Given the description of an element on the screen output the (x, y) to click on. 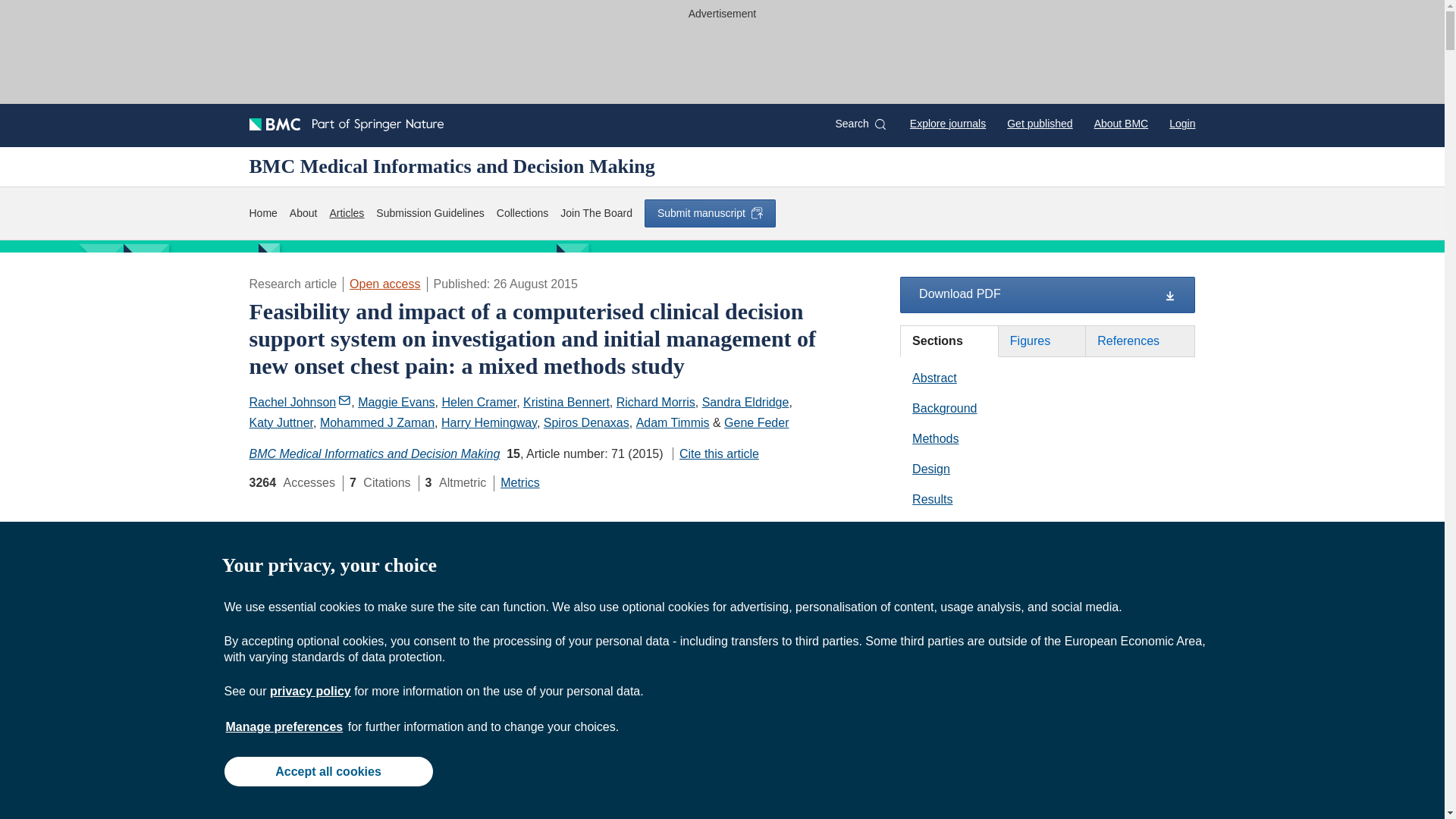
Get published (1039, 123)
Home (262, 212)
Rachel Johnson (299, 401)
Sandra Eldridge (745, 401)
About BMC (1121, 123)
BMC Medical Informatics and Decision Making (450, 166)
Submit manuscript (710, 212)
privacy policy (309, 690)
Collections (522, 212)
Helen Cramer (478, 401)
Explore journals (947, 123)
Search (859, 123)
About (303, 212)
Katy Juttner (280, 422)
Open access (384, 283)
